Given the description of an element on the screen output the (x, y) to click on. 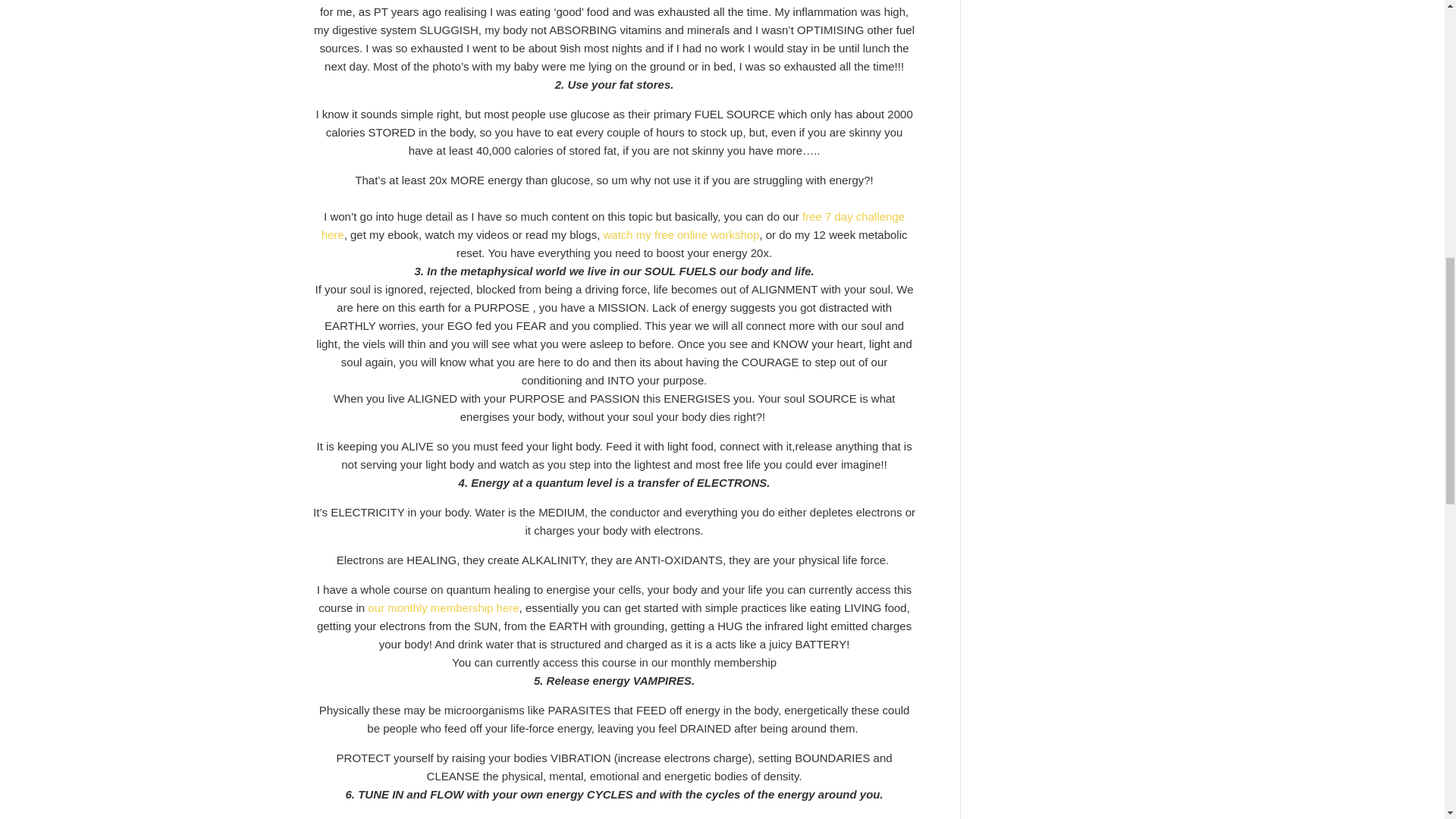
watch my free online workshop (680, 234)
our monthly membership here (443, 607)
free 7 day challenge here (612, 224)
